Given the description of an element on the screen output the (x, y) to click on. 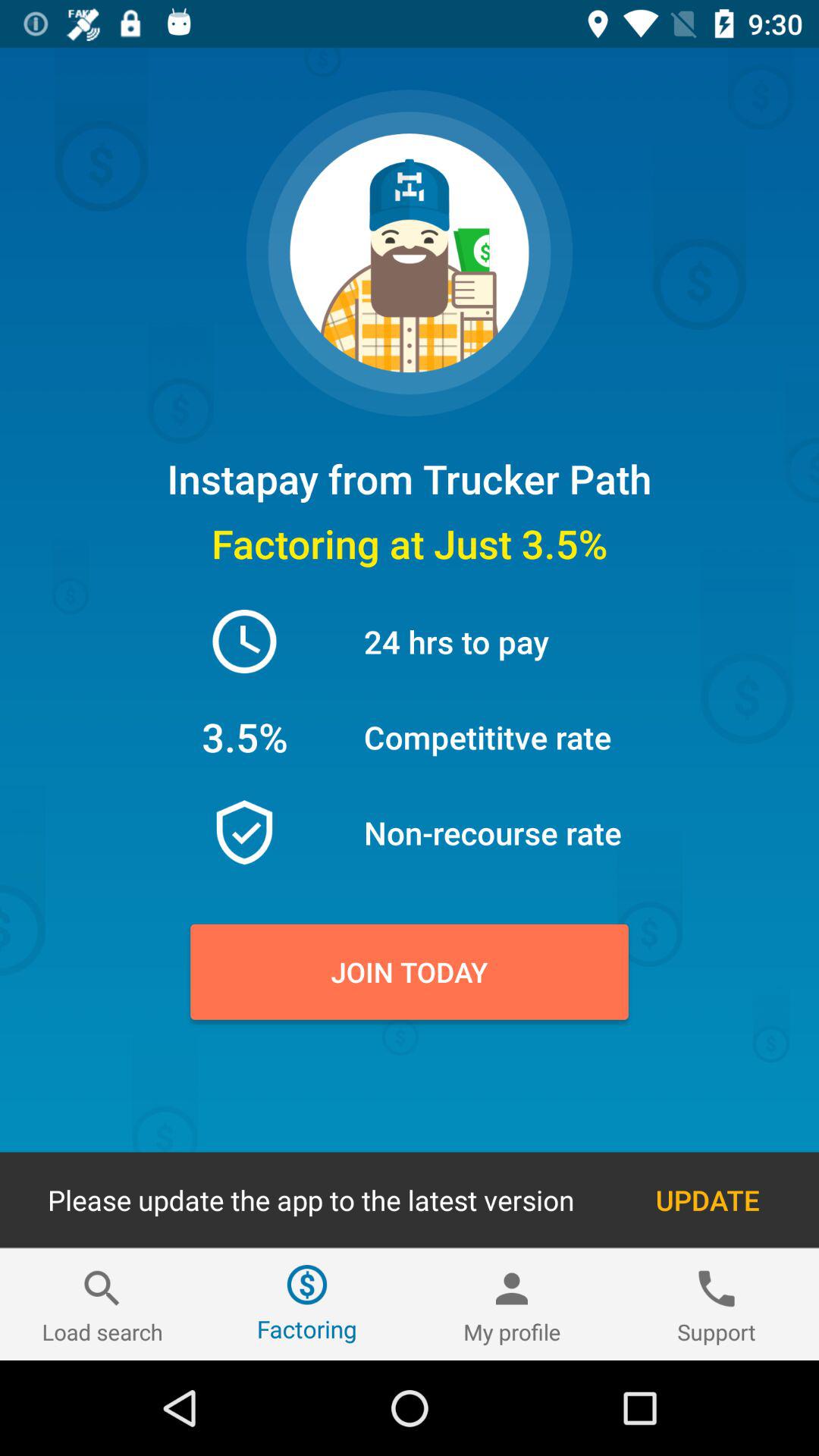
open the icon next to factoring icon (102, 1304)
